Given the description of an element on the screen output the (x, y) to click on. 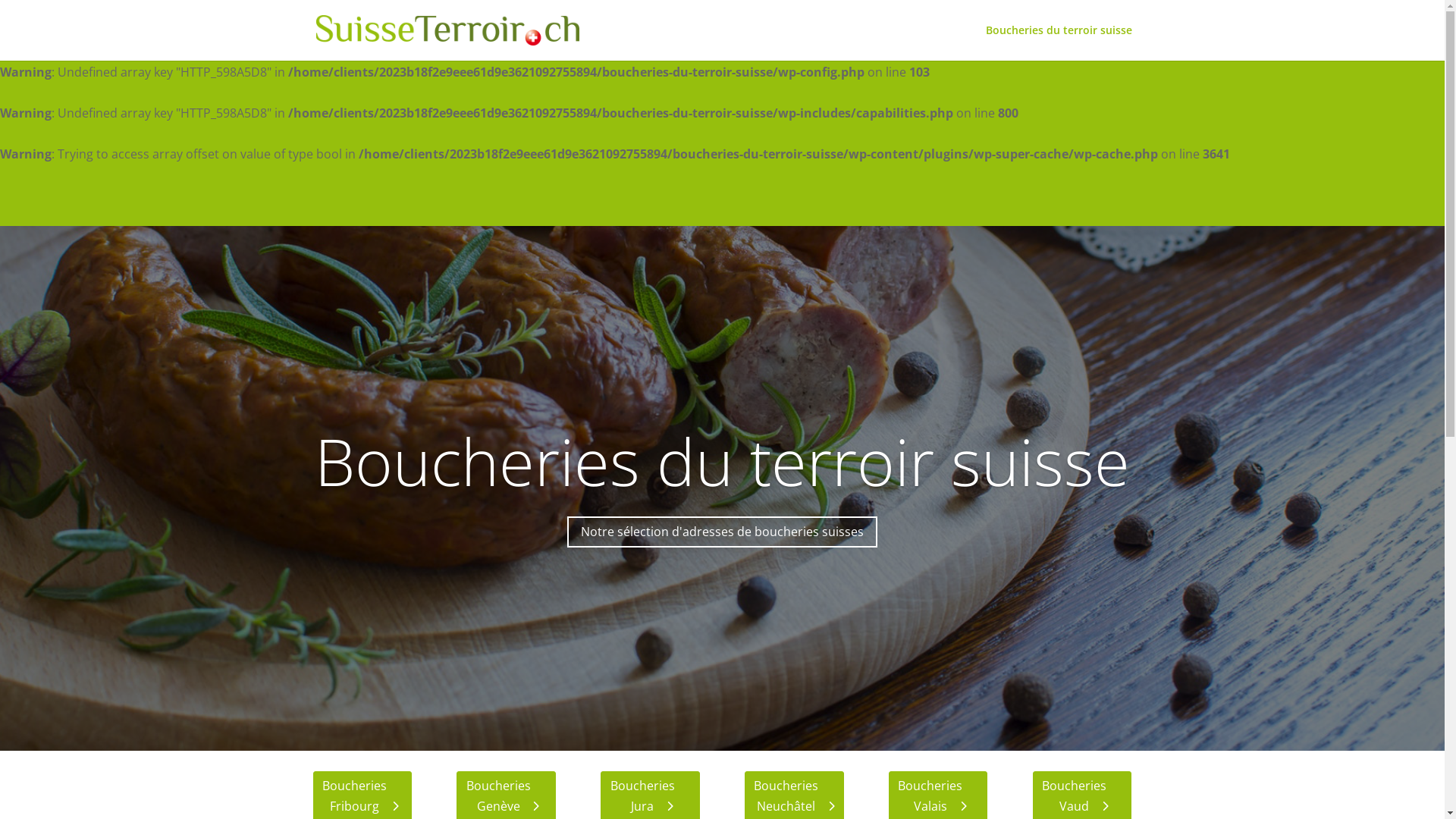
Boucheries du terroir suisse Element type: text (1058, 42)
Boucheries du terroir suisse Element type: text (721, 461)
